Given the description of an element on the screen output the (x, y) to click on. 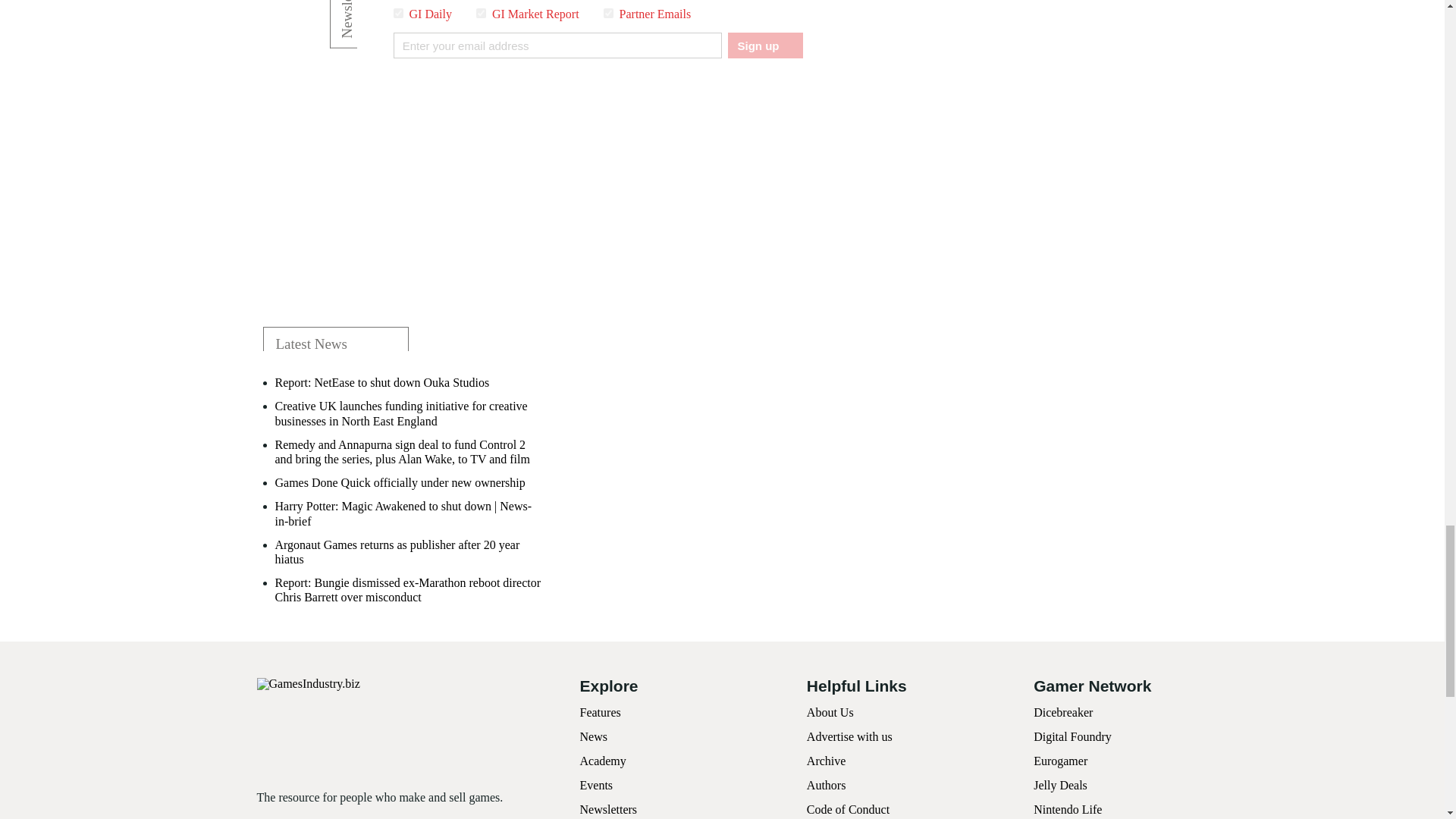
Argonaut Games returns as publisher after 20 year hiatus (409, 551)
Sign up (765, 45)
on (481, 13)
Newsletters (608, 809)
Features (599, 712)
Events (595, 784)
on (608, 13)
News (593, 736)
Advertise with us (849, 736)
